Given the description of an element on the screen output the (x, y) to click on. 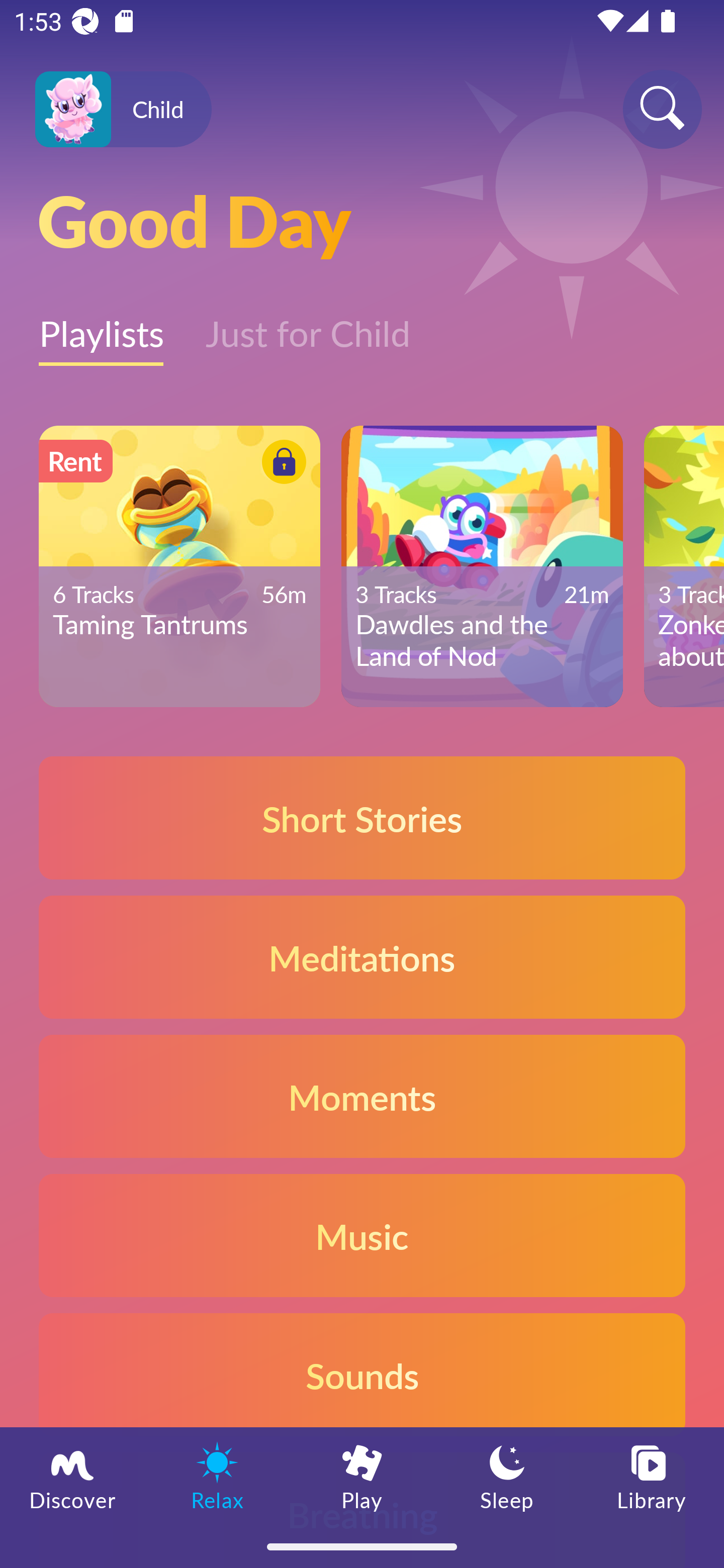
Profile icon Child (123, 109)
Just for Child (307, 322)
Button (280, 463)
Short Stories (361, 817)
Meditations (361, 957)
Moments (361, 1096)
Music (361, 1234)
Sounds (361, 1374)
Discover (72, 1475)
Play (361, 1475)
Sleep (506, 1475)
Library (651, 1475)
